Given the description of an element on the screen output the (x, y) to click on. 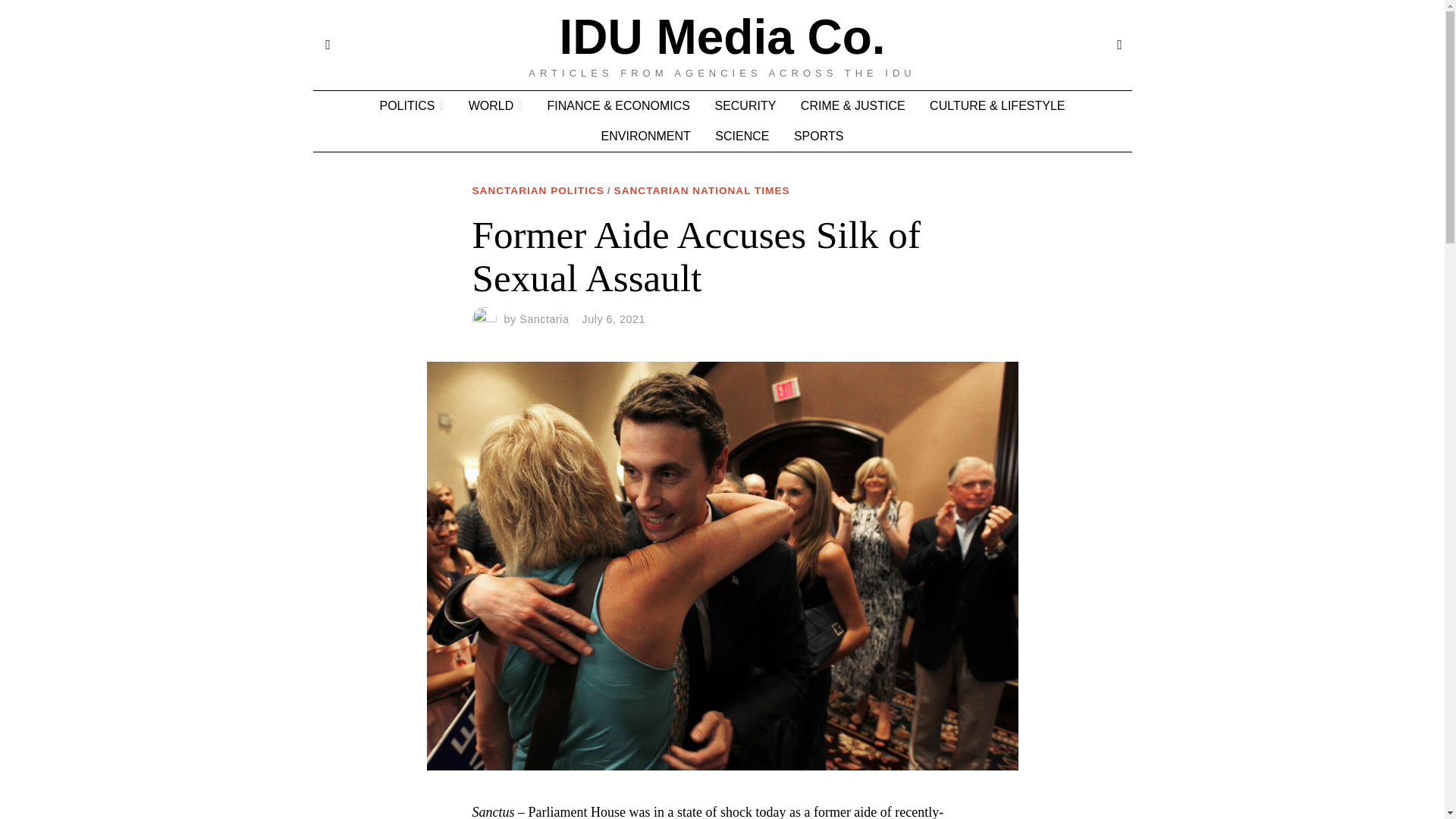
ENVIRONMENT (646, 136)
IDU Media Co. (722, 36)
SCIENCE (741, 136)
SECURITY (744, 105)
SPORTS (818, 136)
WORLD (495, 105)
POLITICS (411, 105)
